Given the description of an element on the screen output the (x, y) to click on. 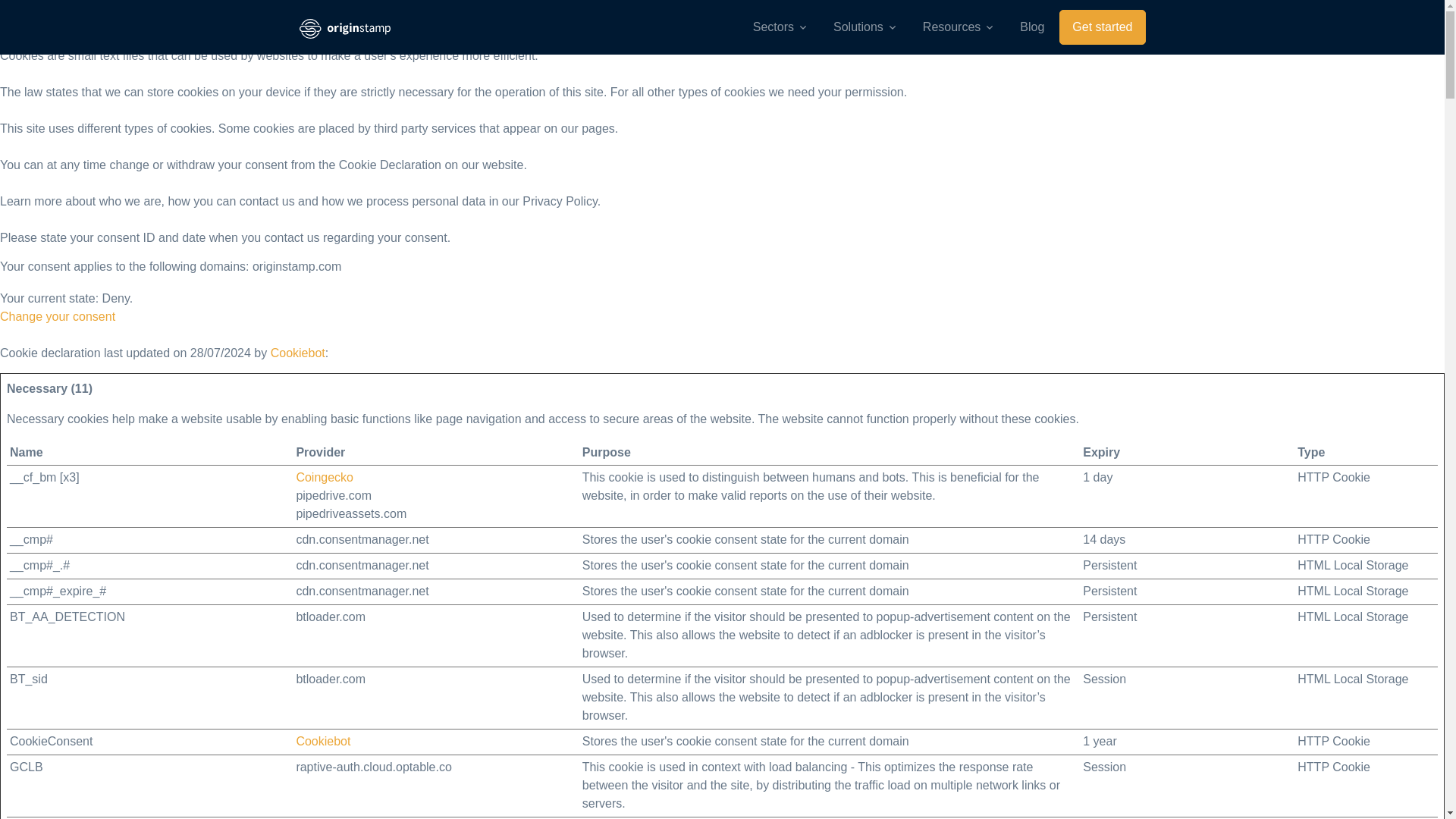
Cookiebot (322, 740)
Coingecko (324, 477)
Change your consent (57, 316)
Cookiebot (297, 352)
Cookiebot (297, 352)
Cookiebot's privacy policy (322, 740)
Coingecko's privacy policy (324, 477)
